Given the description of an element on the screen output the (x, y) to click on. 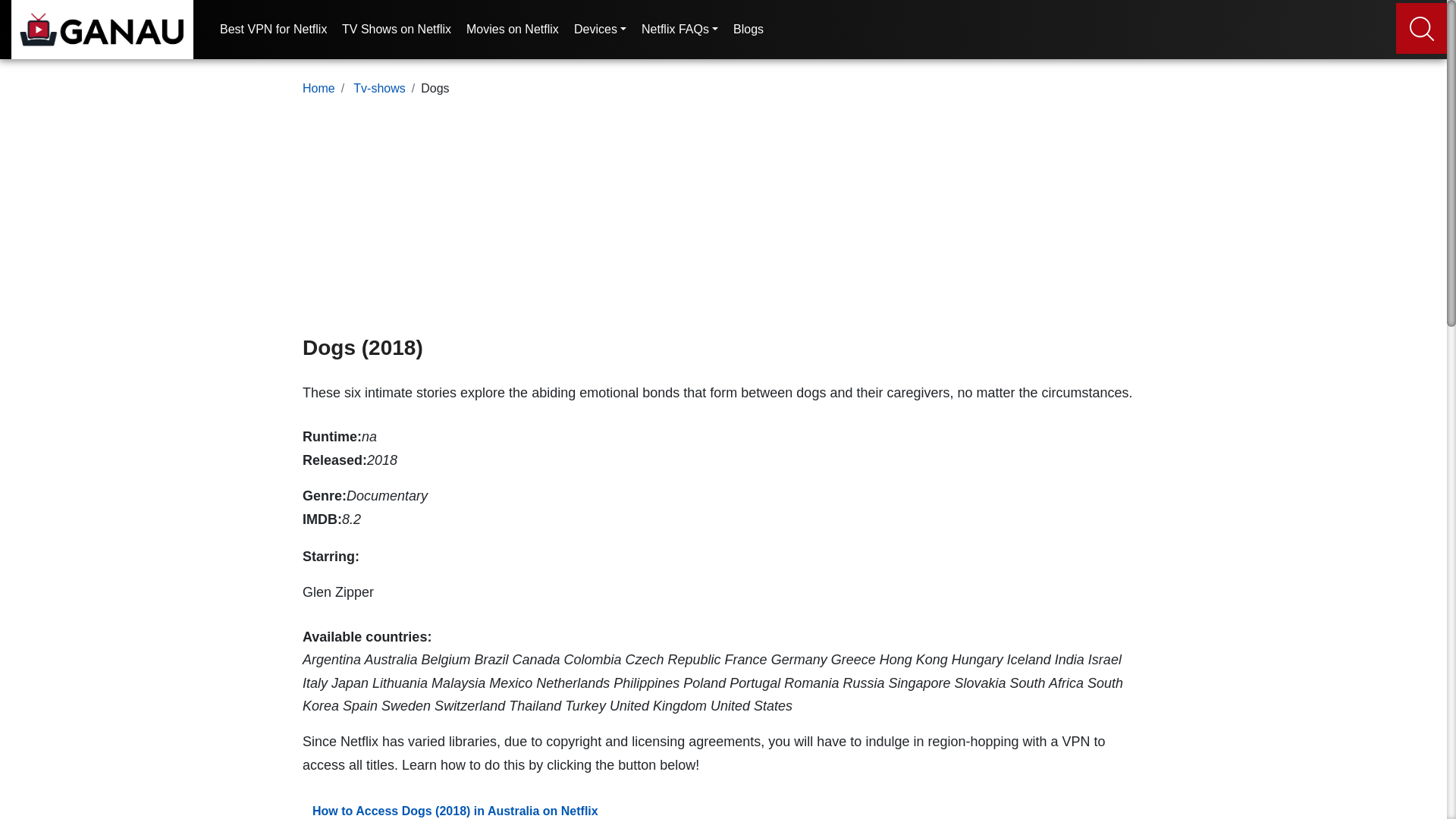
Movies on Netflix (512, 36)
Best VPN for Netflix (272, 36)
TV Shows on Netflix (396, 36)
Tv-shows (378, 88)
Home (318, 88)
Netflix FAQs (679, 36)
Devices (599, 36)
